Given the description of an element on the screen output the (x, y) to click on. 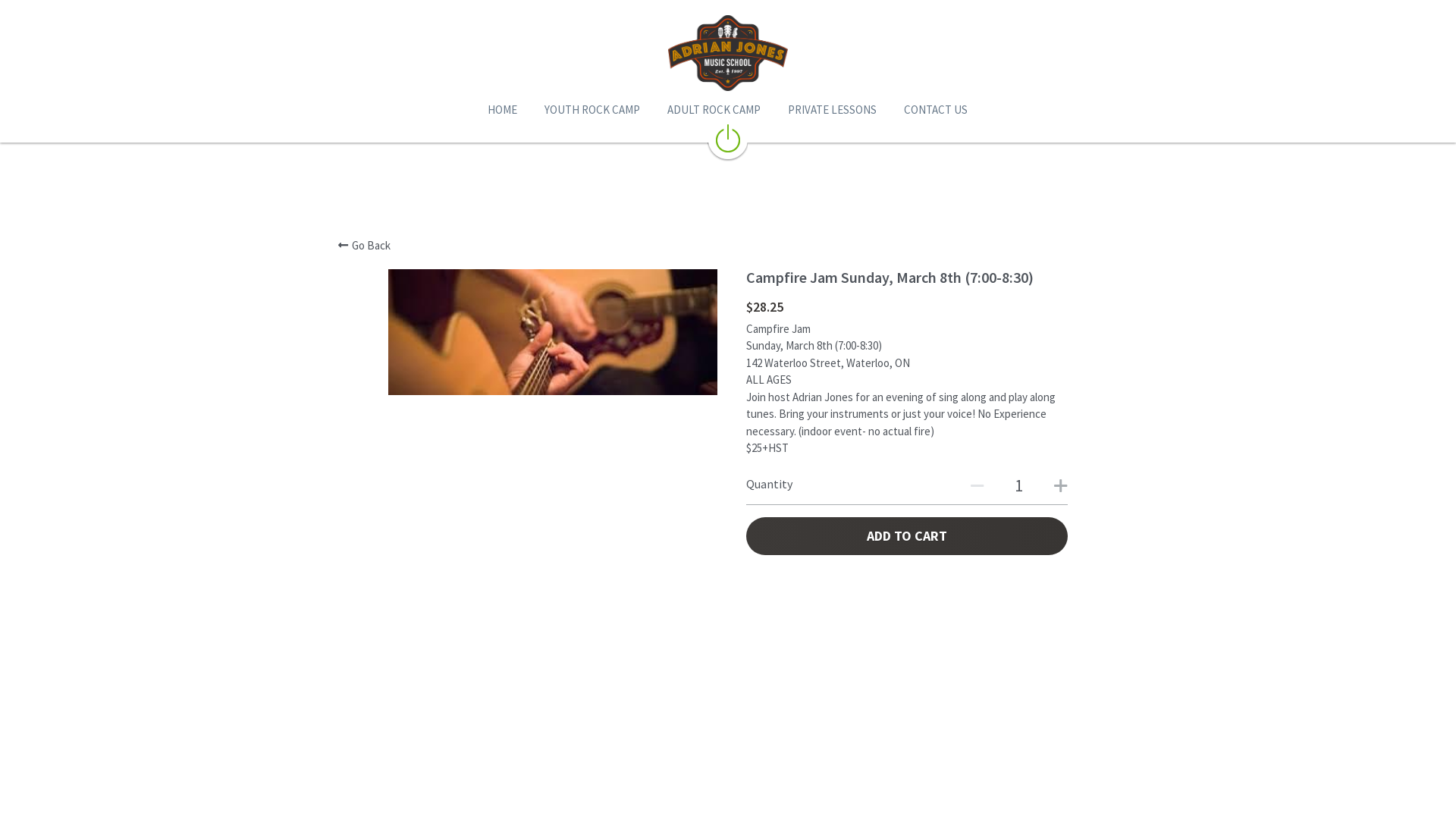
ADULT ROCK CAMP Element type: text (708, 109)
HOME Element type: text (496, 109)
CONTACT US Element type: text (930, 109)
YOUTH ROCK CAMP Element type: text (586, 109)
PRIVATE LESSONS Element type: text (826, 109)
